Given the description of an element on the screen output the (x, y) to click on. 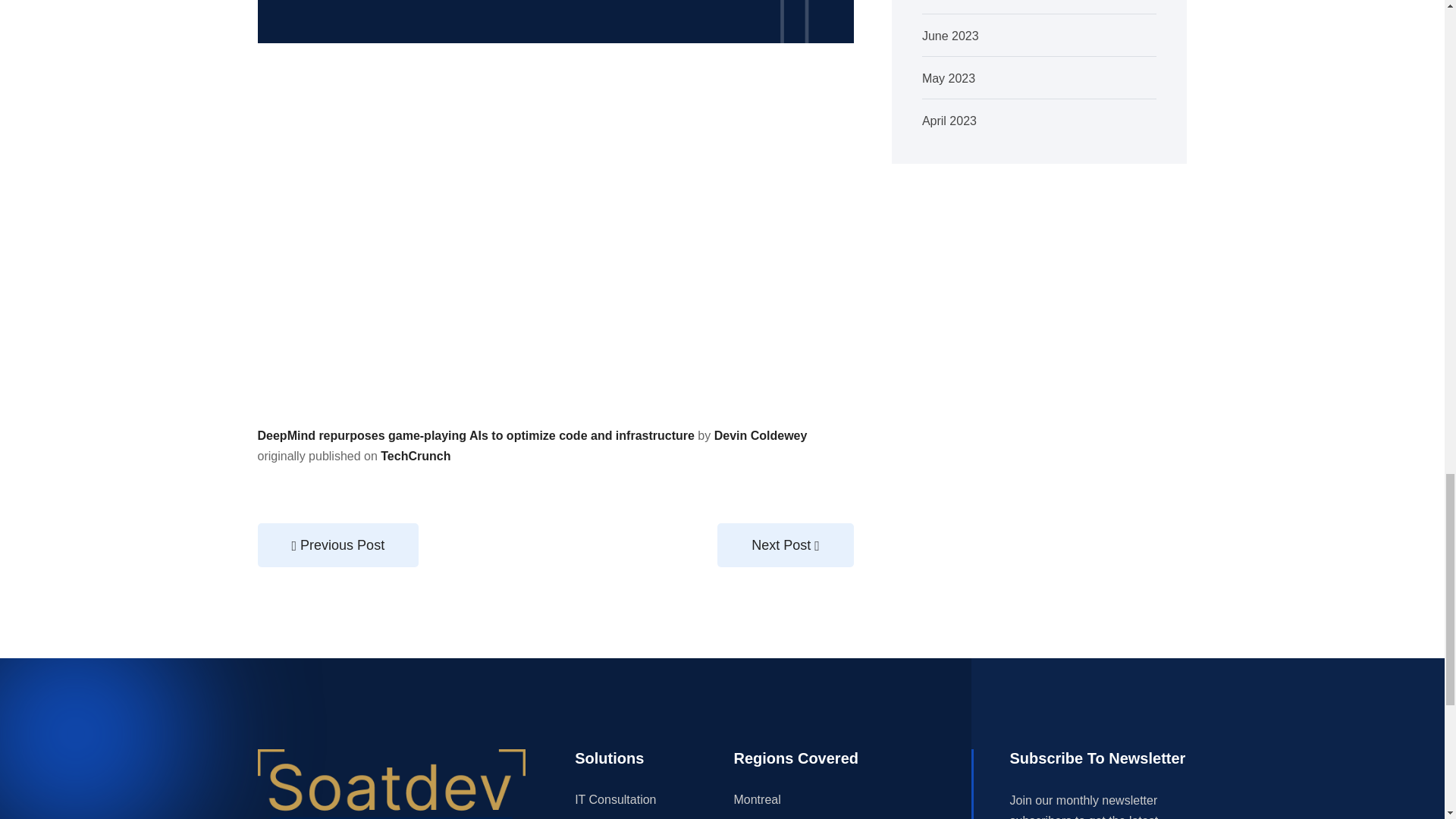
Devin Coldewey (761, 435)
Previous Post (338, 545)
Next Post (785, 545)
TechCrunch (414, 455)
